Given the description of an element on the screen output the (x, y) to click on. 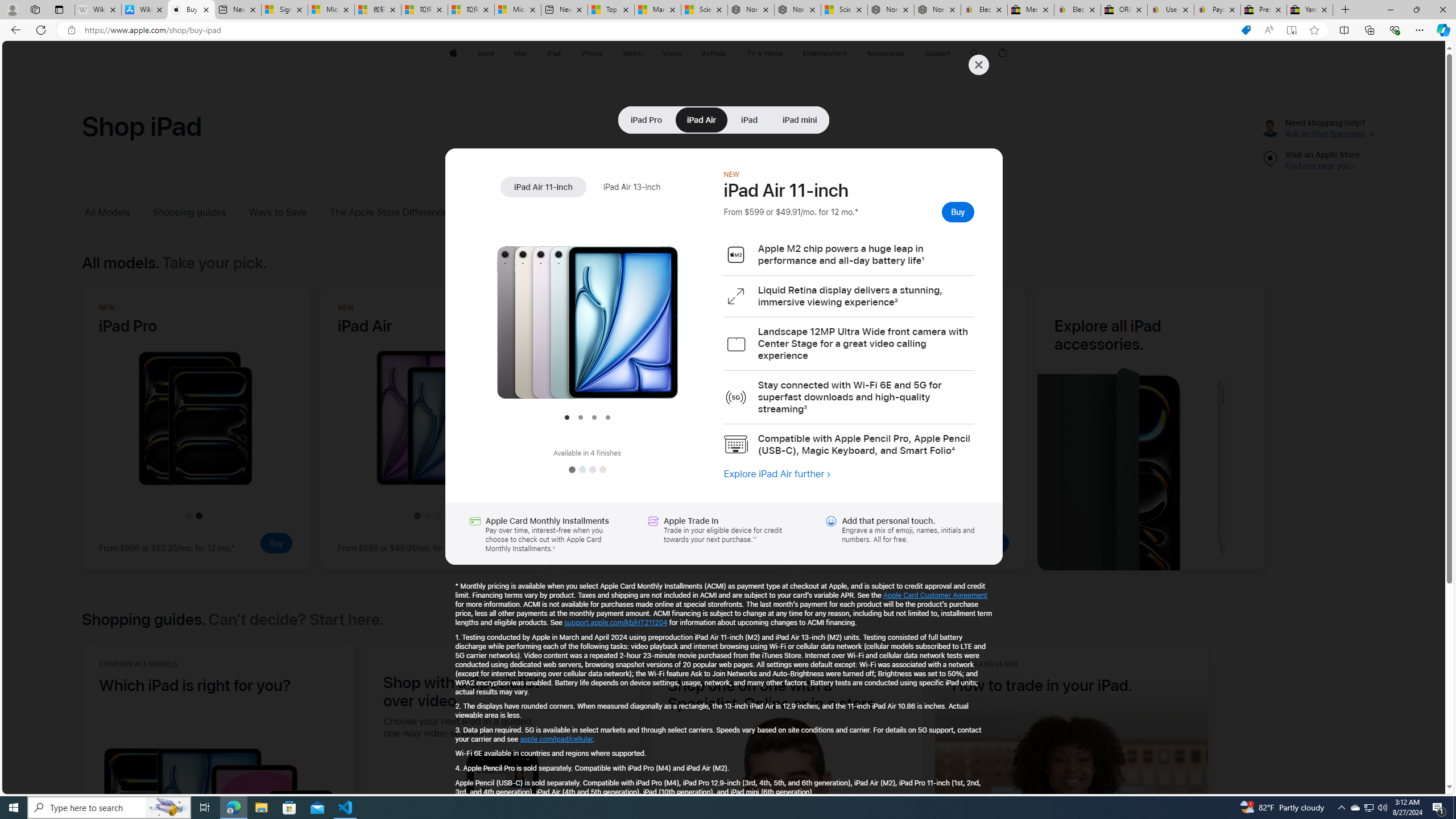
Press Room - eBay Inc. (1263, 9)
Nordace - Summer Adventures 2024 (890, 9)
iPad Air (701, 119)
